Given the description of an element on the screen output the (x, y) to click on. 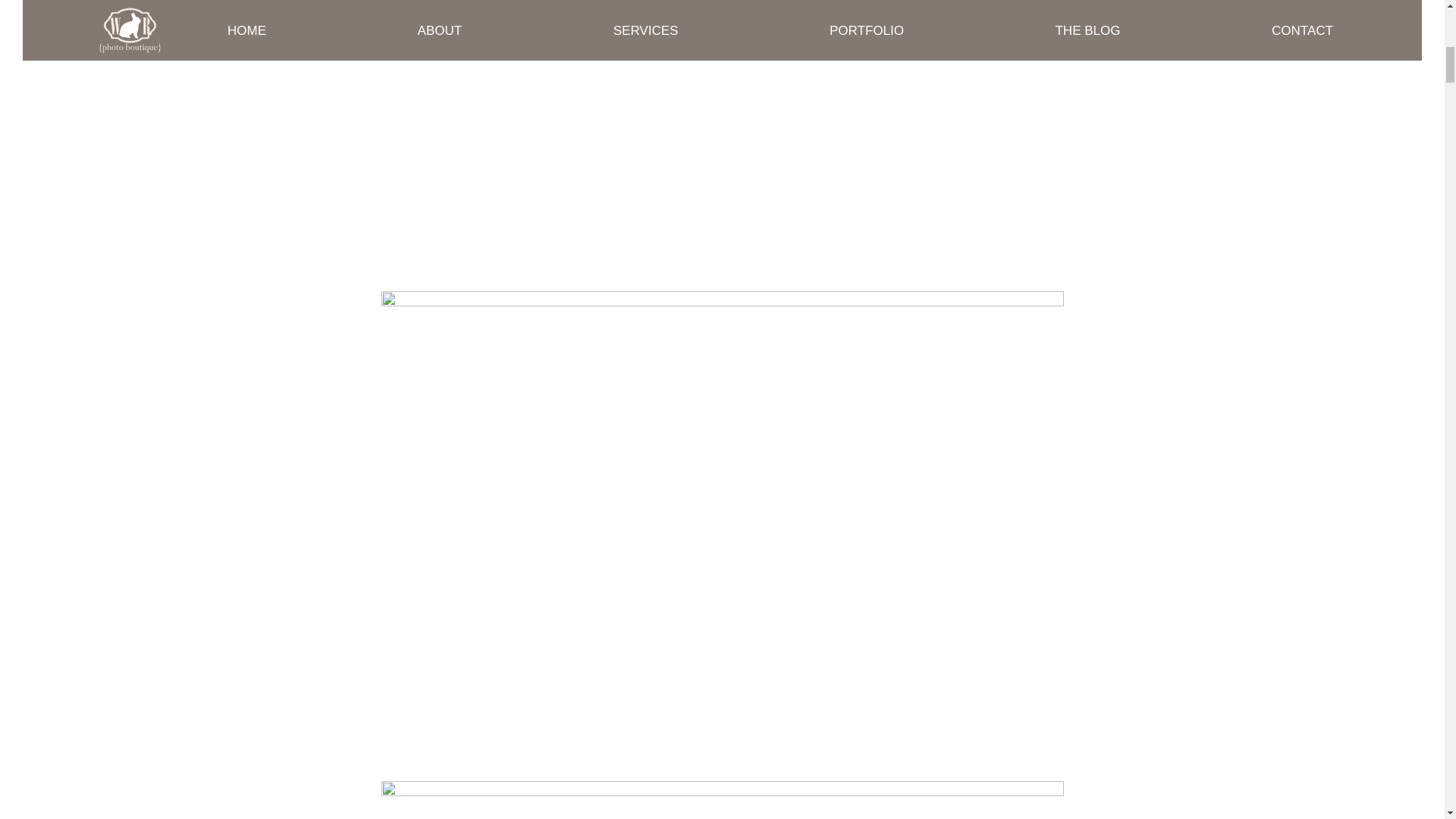
Nightmare Before Christmas Wedding (721, 800)
